Given the description of an element on the screen output the (x, y) to click on. 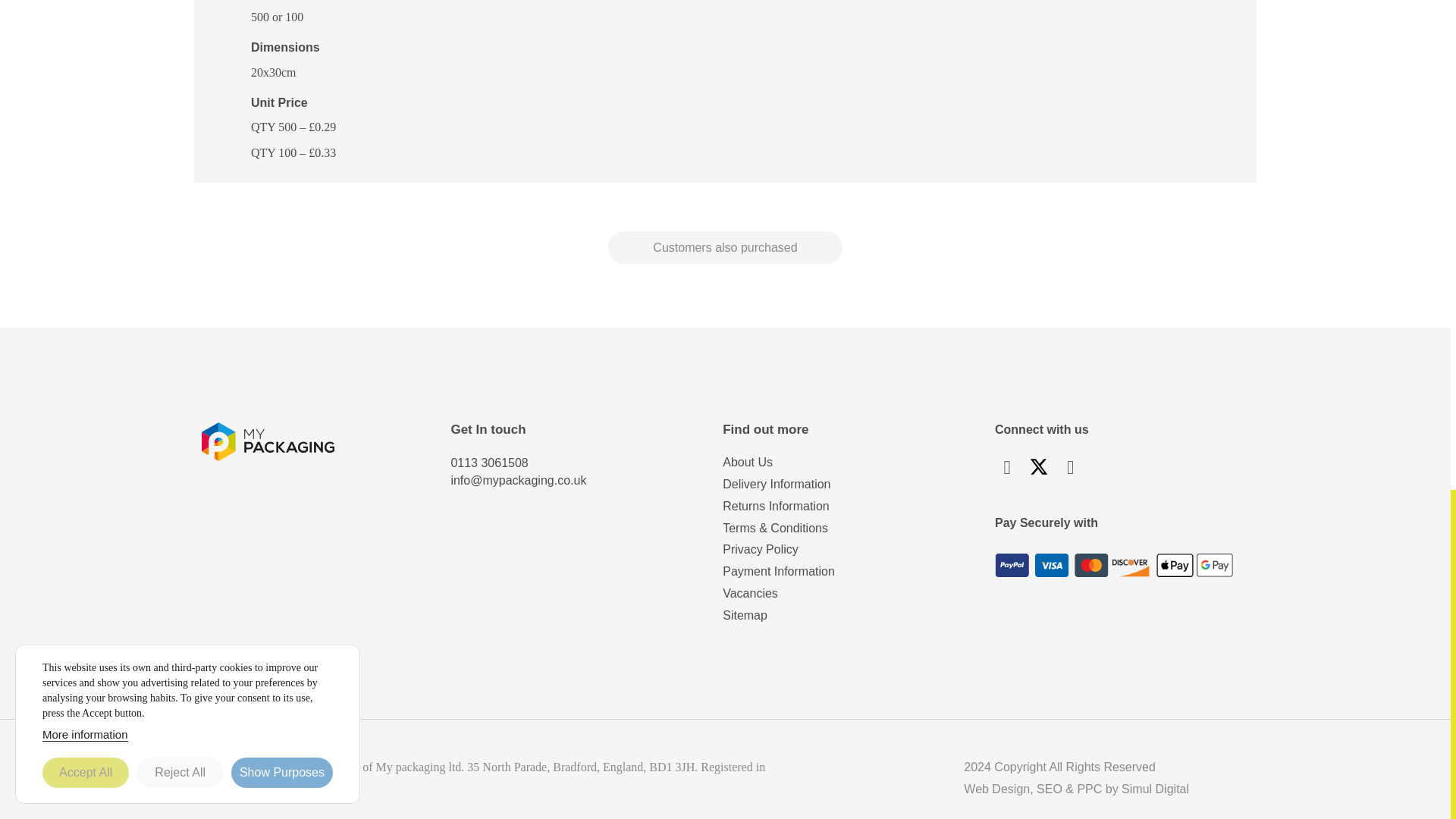
Lost ? Find what your are looking for (744, 615)
